Given the description of an element on the screen output the (x, y) to click on. 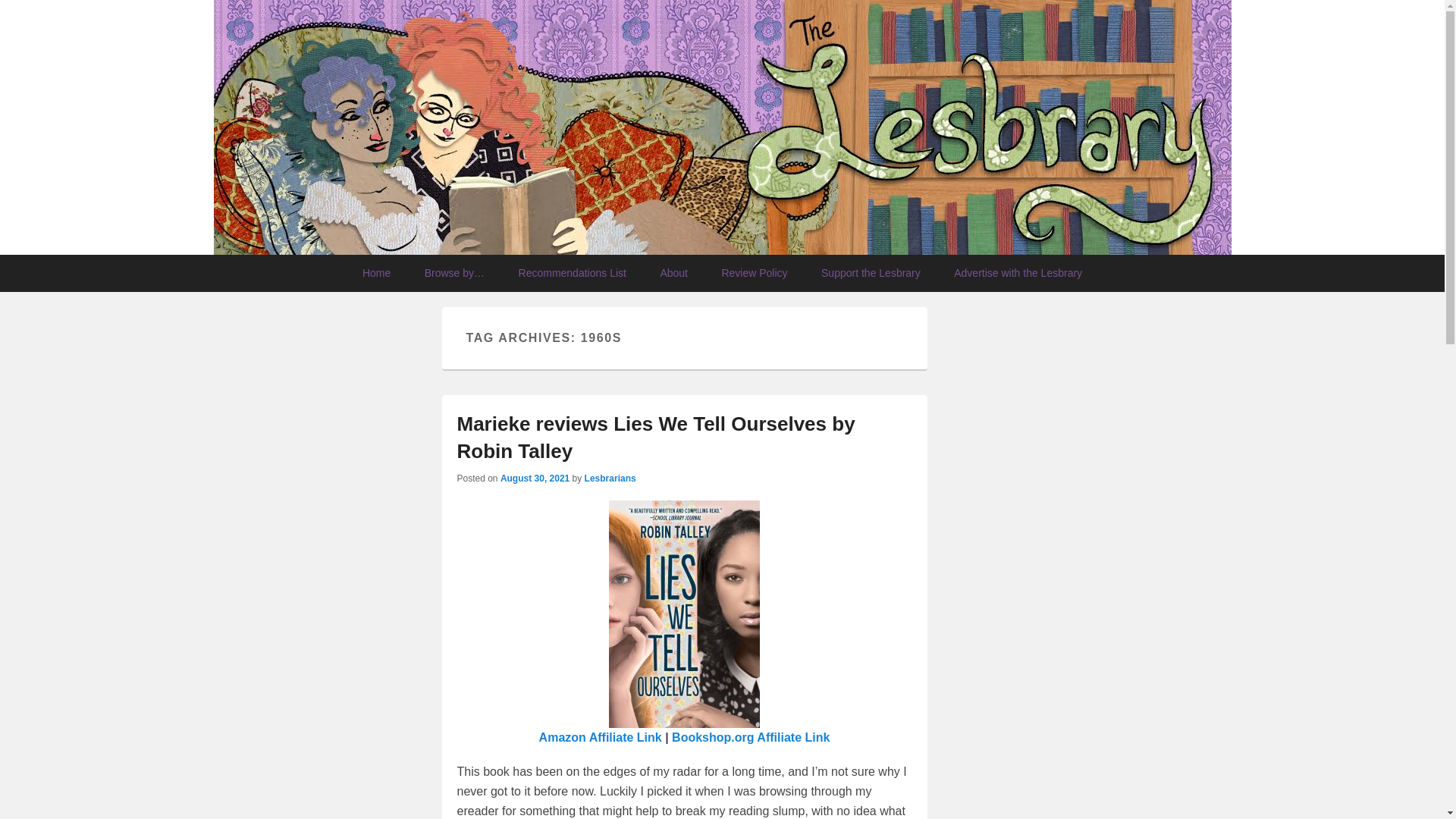
View all posts by Lesbrarians (610, 478)
6:00 am (534, 478)
Home (376, 272)
